Given the description of an element on the screen output the (x, y) to click on. 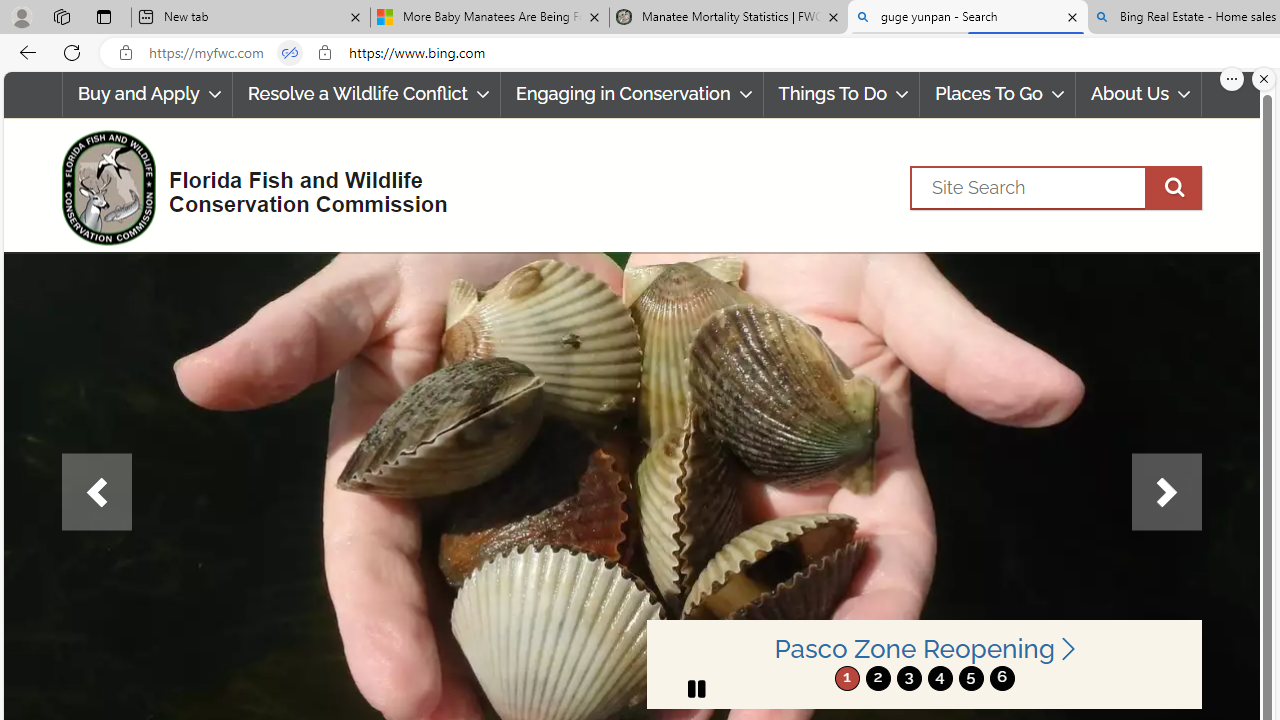
4 (939, 678)
2 (877, 678)
More options. (1232, 79)
move to slide 5 (970, 678)
View site information (324, 53)
5 (970, 678)
Engaging in Conservation (631, 94)
guge yunpan - Search (967, 17)
Pasco Zone Reopening  (924, 649)
3 (908, 678)
move to slide 4 (939, 678)
Tab actions menu (104, 16)
Refresh (72, 52)
Manatee Mortality Statistics | FWC (729, 17)
Things To Do (841, 94)
